Given the description of an element on the screen output the (x, y) to click on. 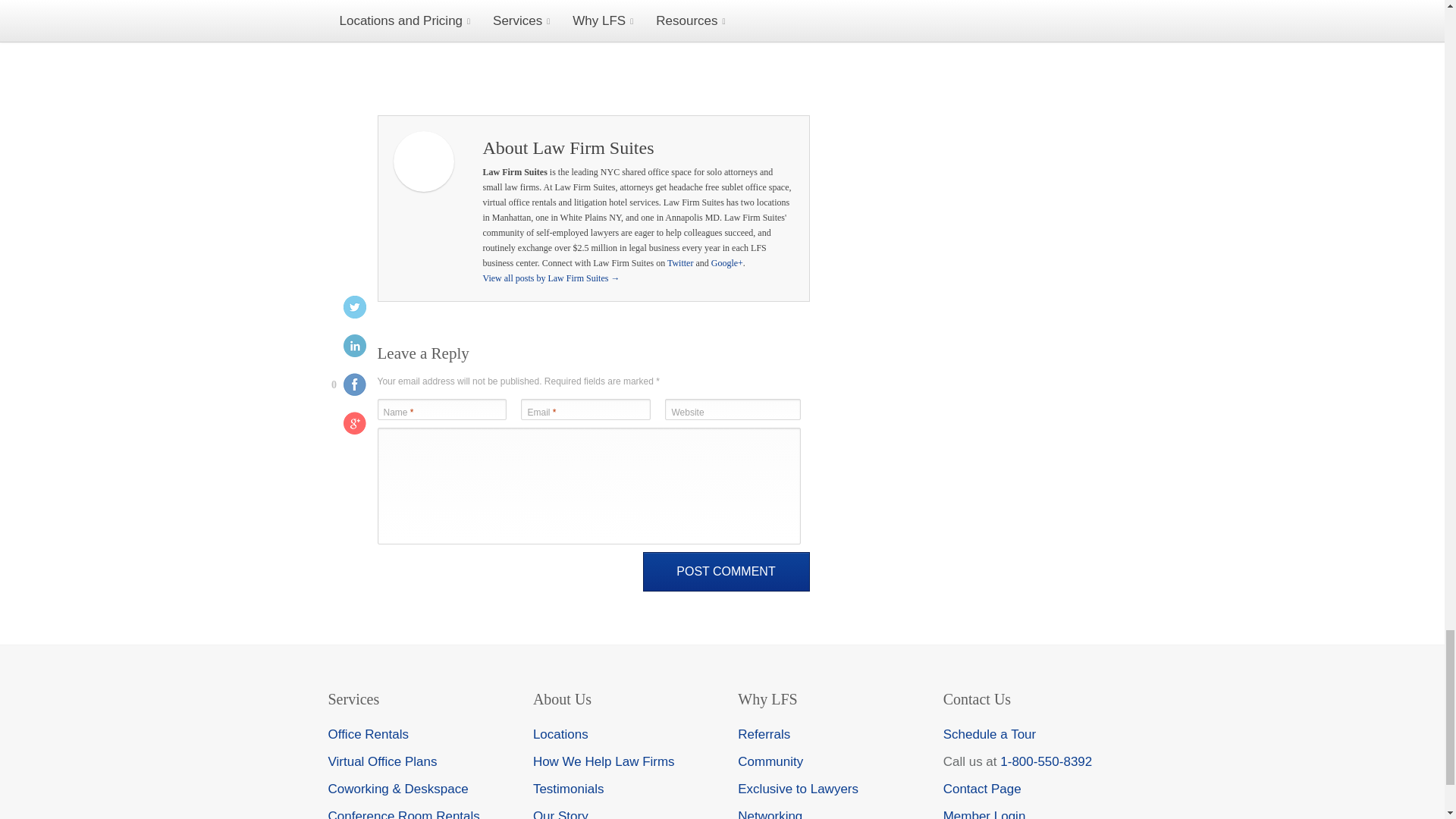
Post Comment (726, 571)
